Given the description of an element on the screen output the (x, y) to click on. 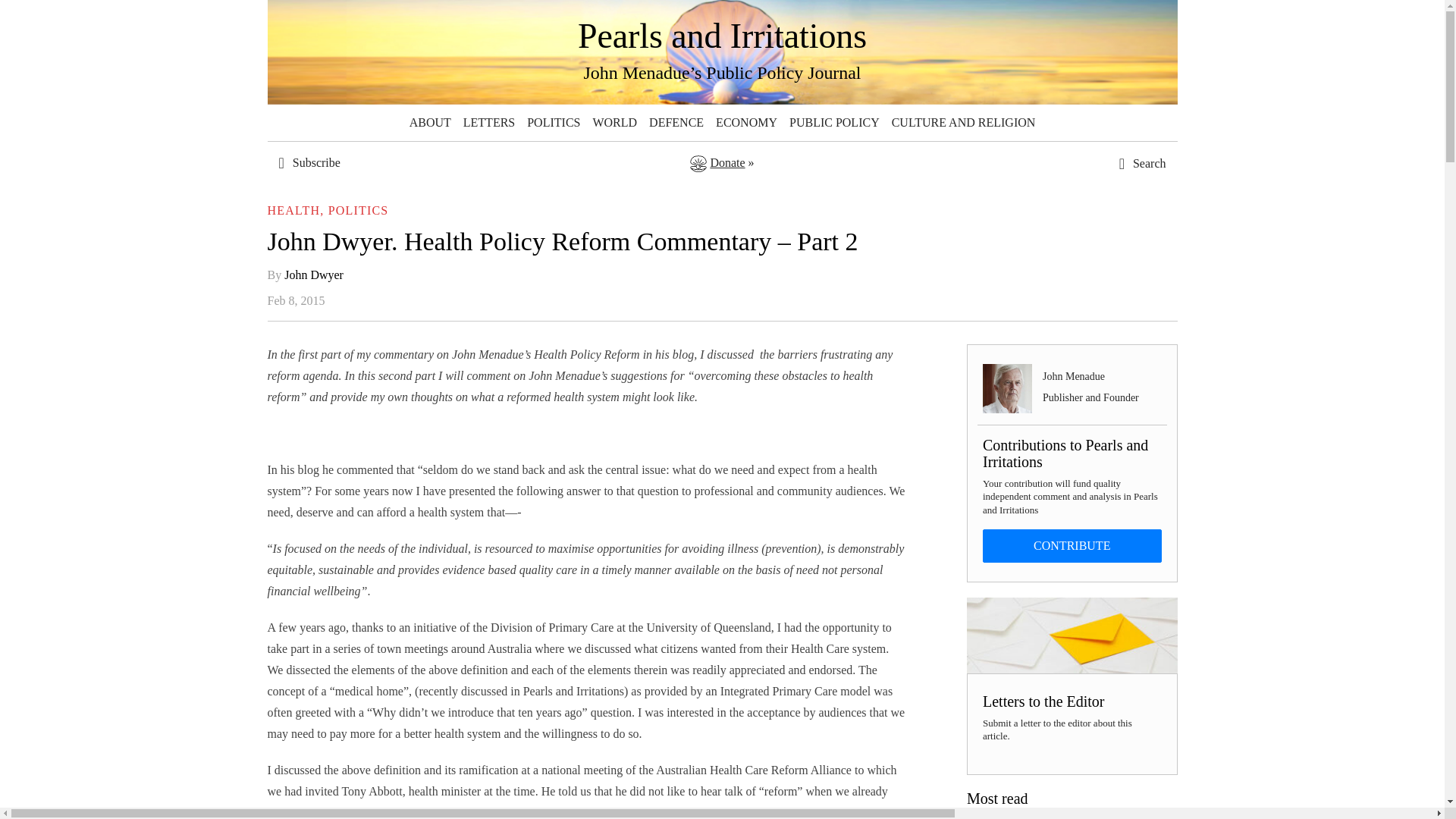
ECONOMY (746, 122)
DEFENCE (676, 122)
Search (1106, 440)
LETTERS (489, 122)
PUBLIC POLICY (834, 122)
Politics (553, 122)
World (614, 122)
WORLD (614, 122)
Letters (489, 122)
POLITICS (553, 122)
ABOUT (430, 122)
About (430, 122)
